Given the description of an element on the screen output the (x, y) to click on. 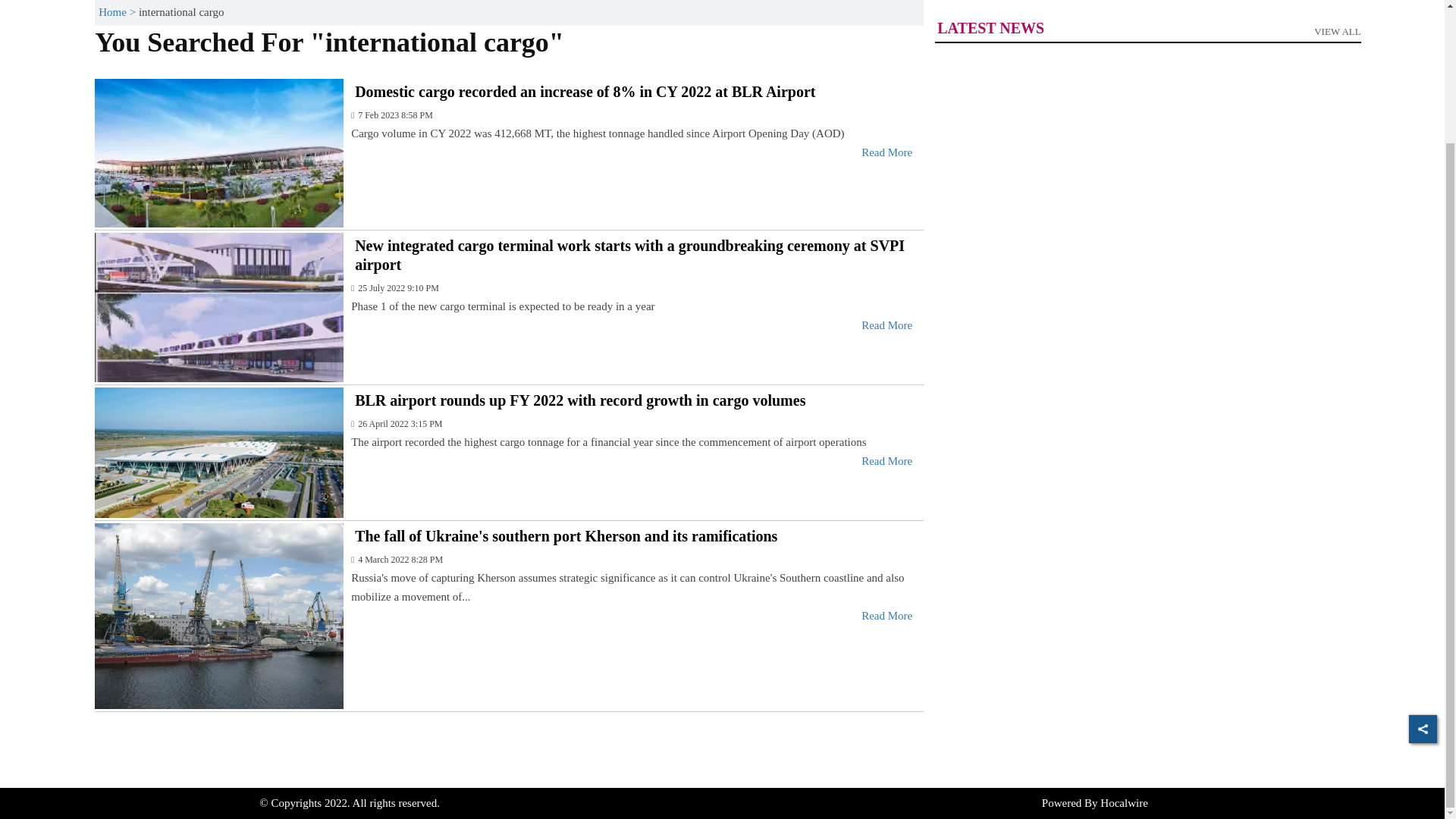
Share it on (1422, 566)
